Given the description of an element on the screen output the (x, y) to click on. 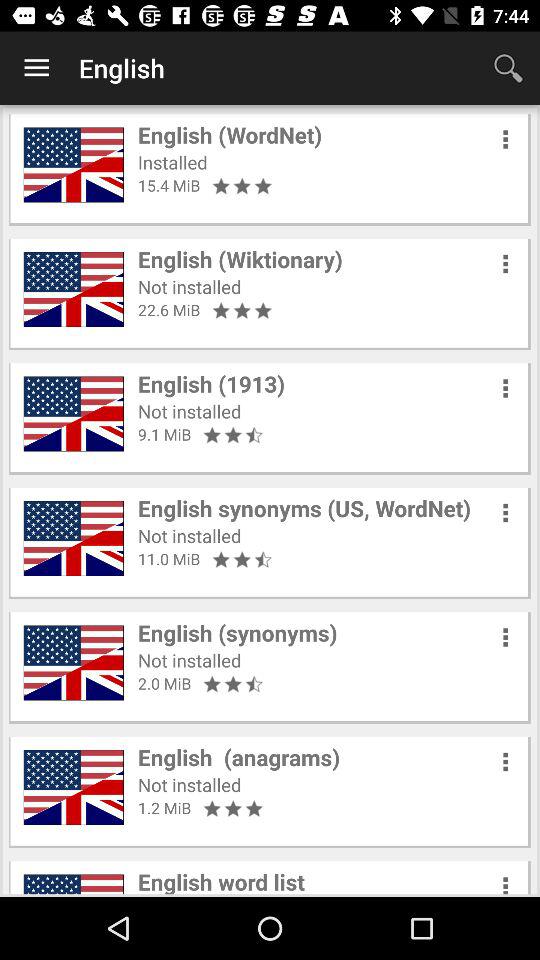
select item below not installed (169, 309)
